Given the description of an element on the screen output the (x, y) to click on. 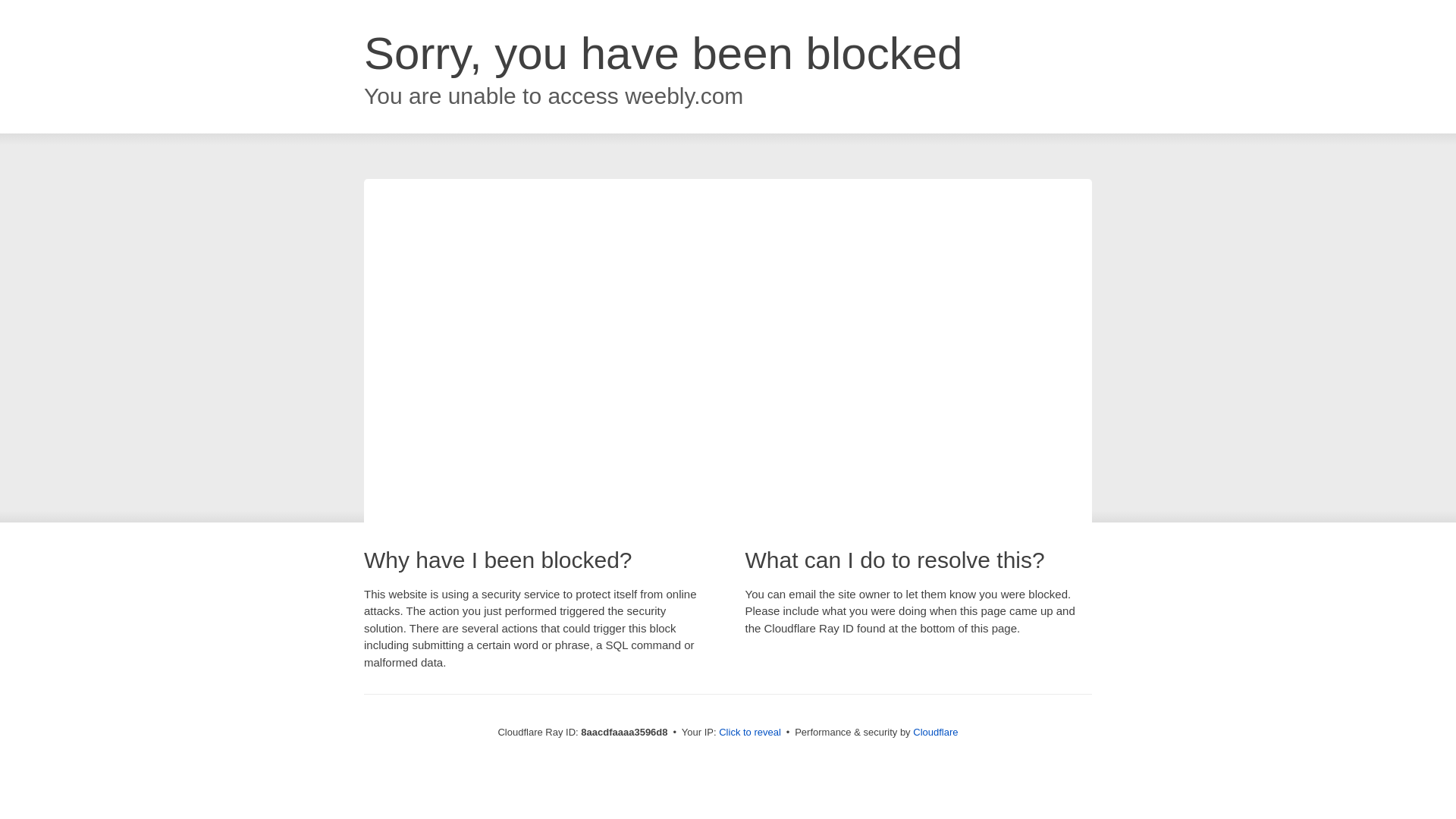
Click to reveal (749, 732)
Cloudflare (935, 731)
